Given the description of an element on the screen output the (x, y) to click on. 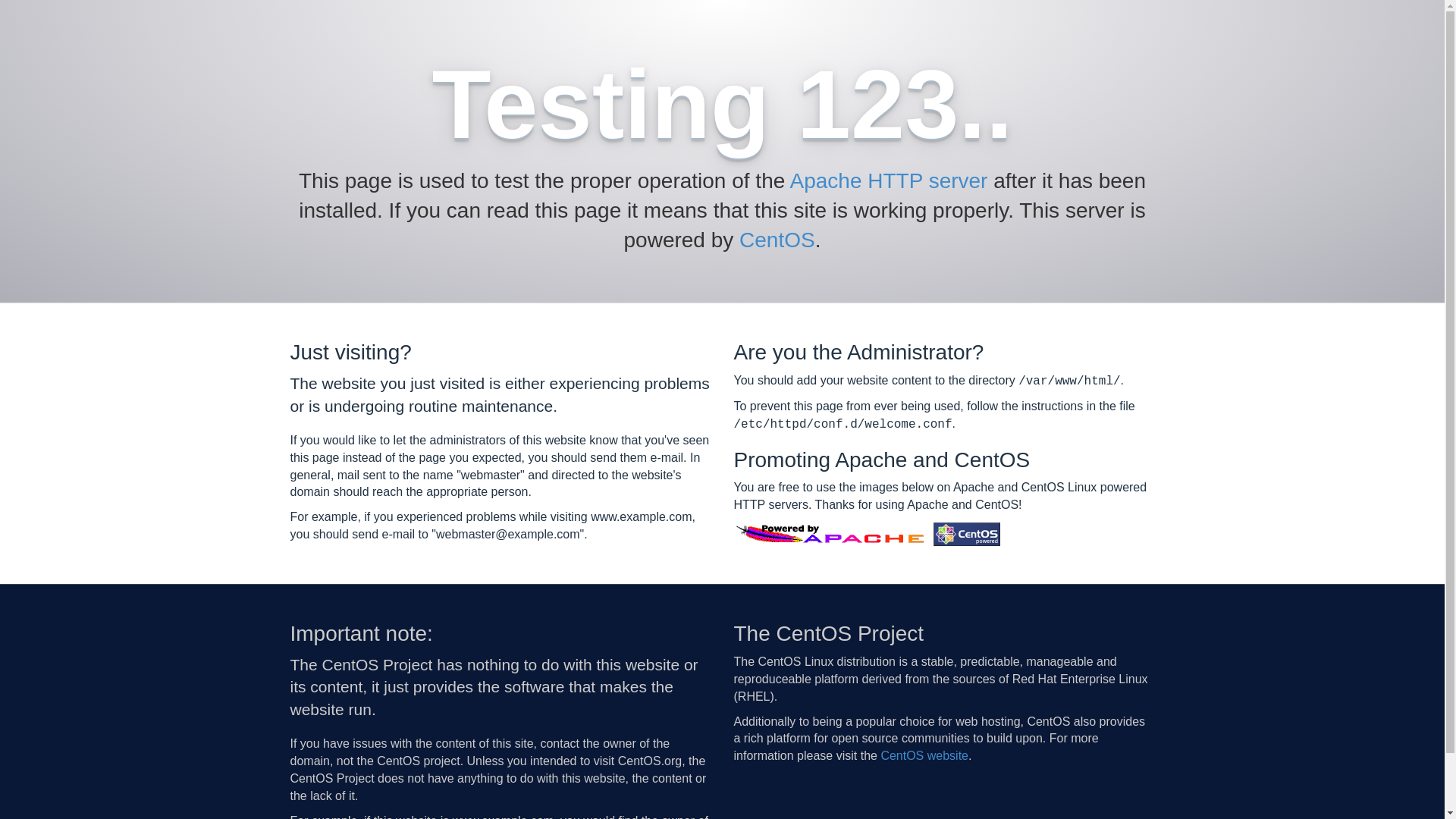
CentOS Element type: text (777, 239)
CentOS website Element type: text (924, 755)
Apache HTTP server Element type: text (889, 180)
